Given the description of an element on the screen output the (x, y) to click on. 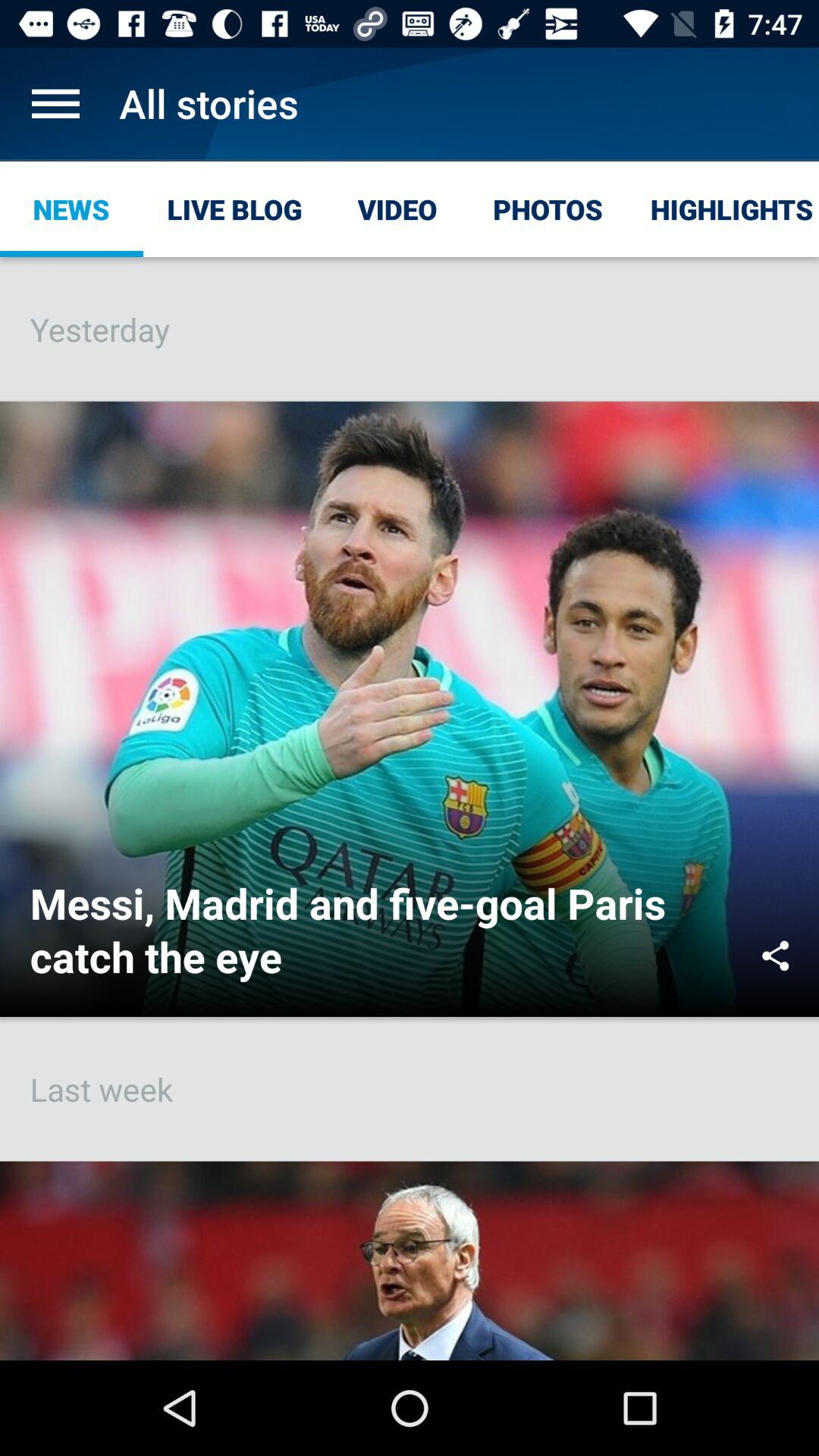
open menu list (55, 103)
